Given the description of an element on the screen output the (x, y) to click on. 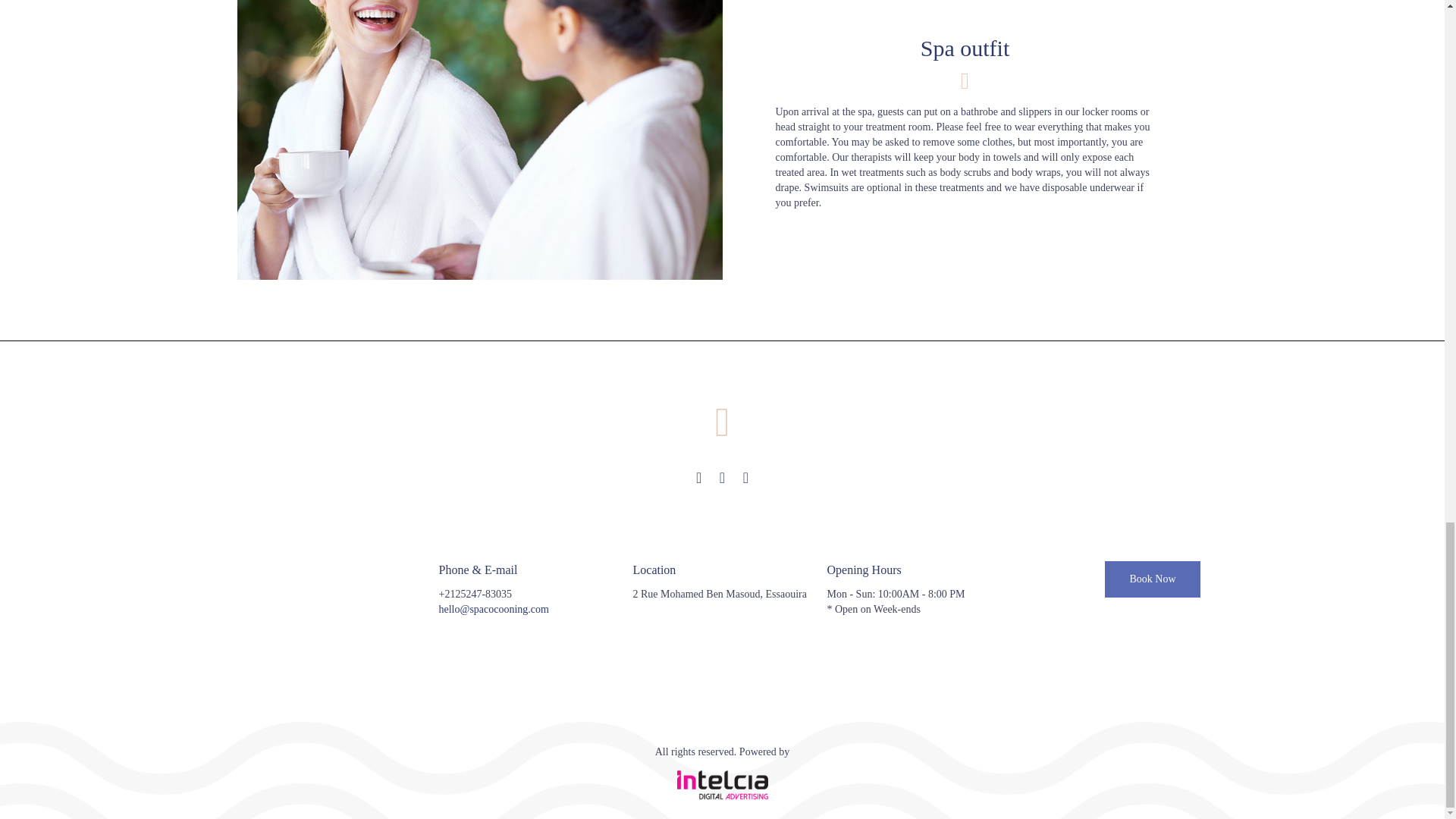
Book Now (1152, 579)
